Given the description of an element on the screen output the (x, y) to click on. 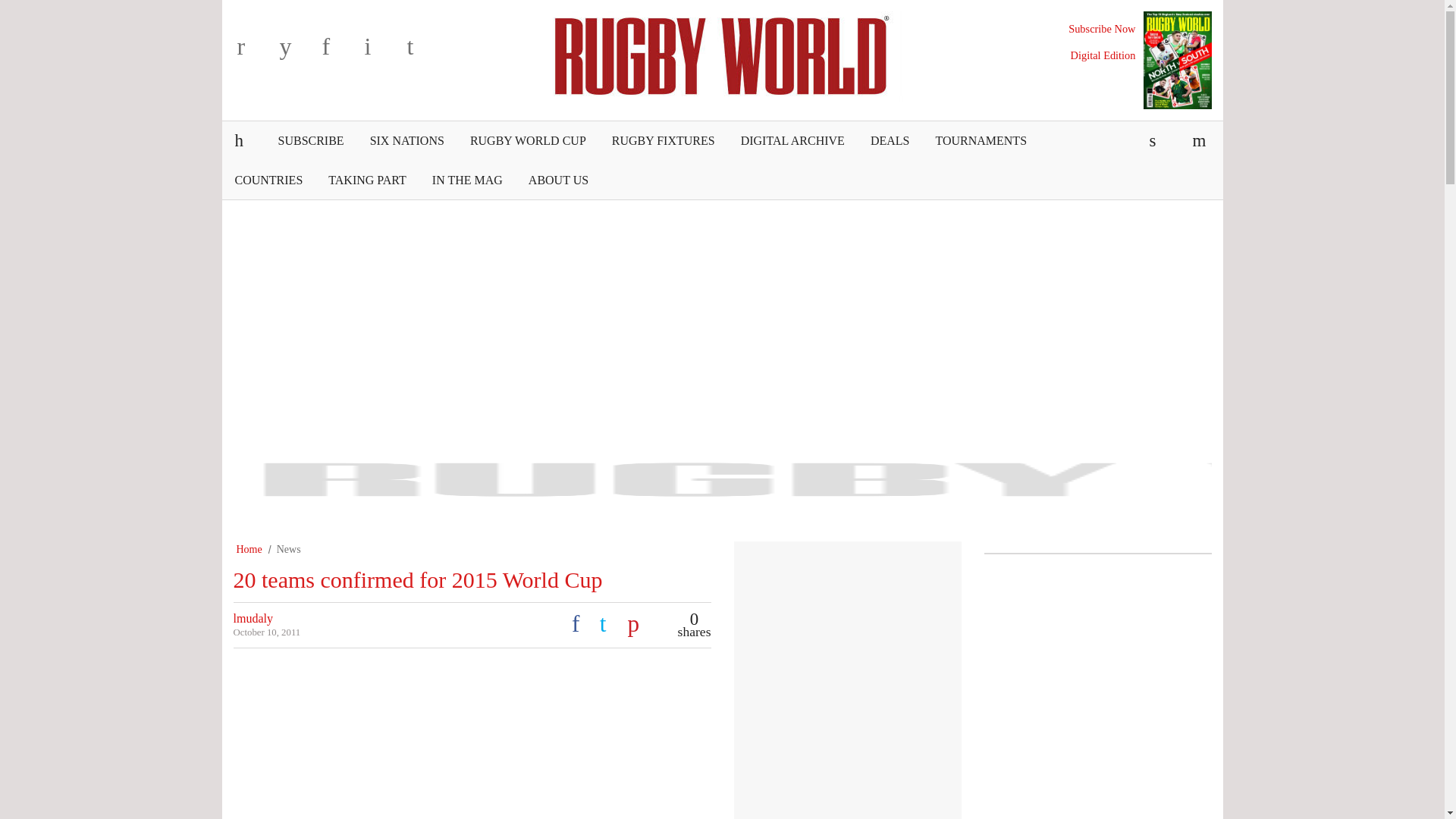
Rugby World (721, 53)
r (254, 52)
lmudaly's Profile (252, 617)
t (424, 52)
DEALS (890, 140)
SUBSCRIBE (310, 140)
Rugby World (721, 53)
Subscribe Now (1101, 28)
i (382, 52)
TOURNAMENTS (980, 140)
RUGBY FIXTURES (663, 140)
Latest Issue of Rugby World (1176, 59)
Subscribe Now (1101, 28)
Digital Edition (1102, 55)
Digital Edition (1102, 55)
